Given the description of an element on the screen output the (x, y) to click on. 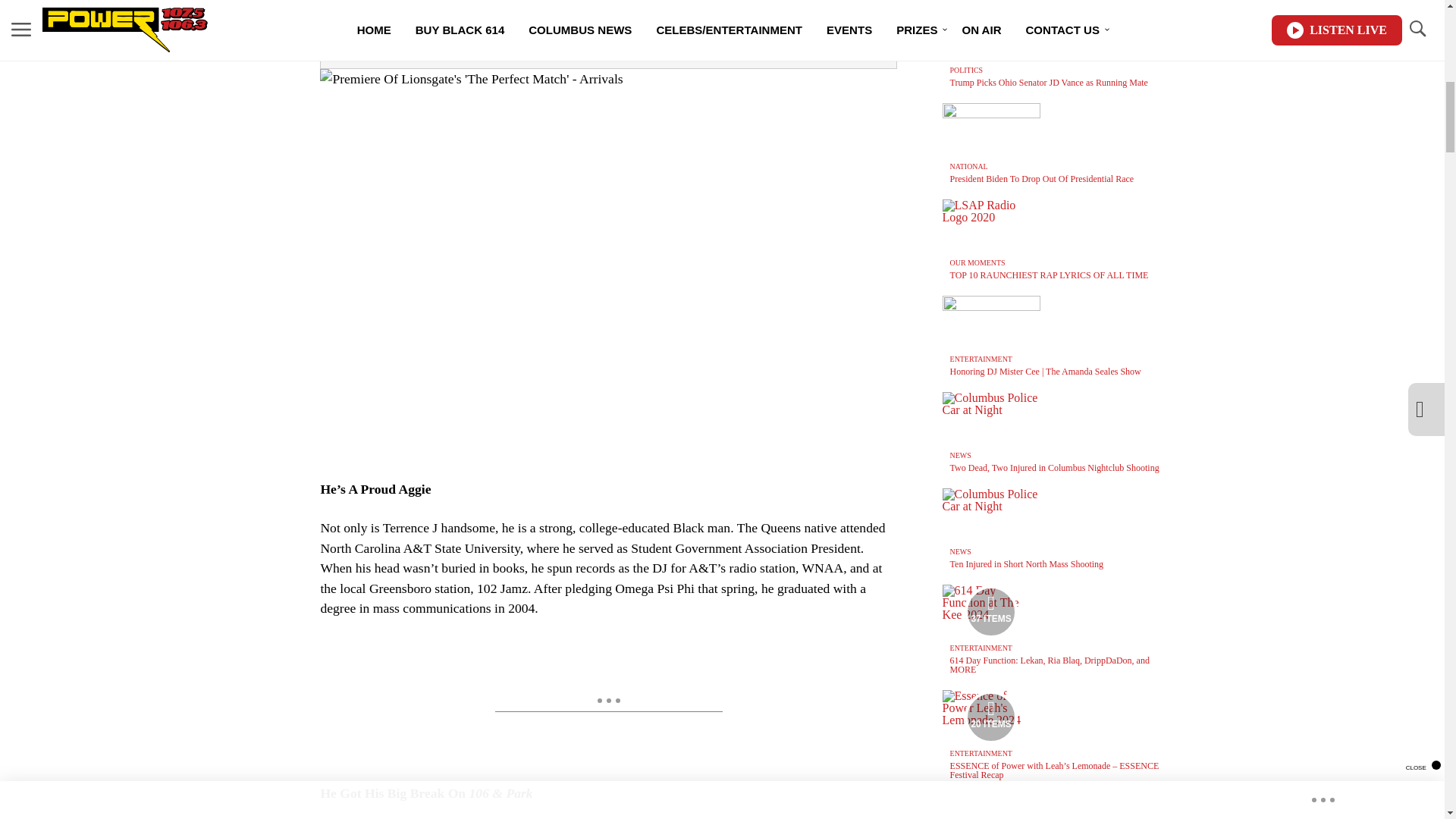
POLITICS (966, 70)
Media Playlist (990, 717)
Media Playlist (990, 611)
Trump Picks Ohio Senator JD Vance as Running Mate (1049, 81)
